Given the description of an element on the screen output the (x, y) to click on. 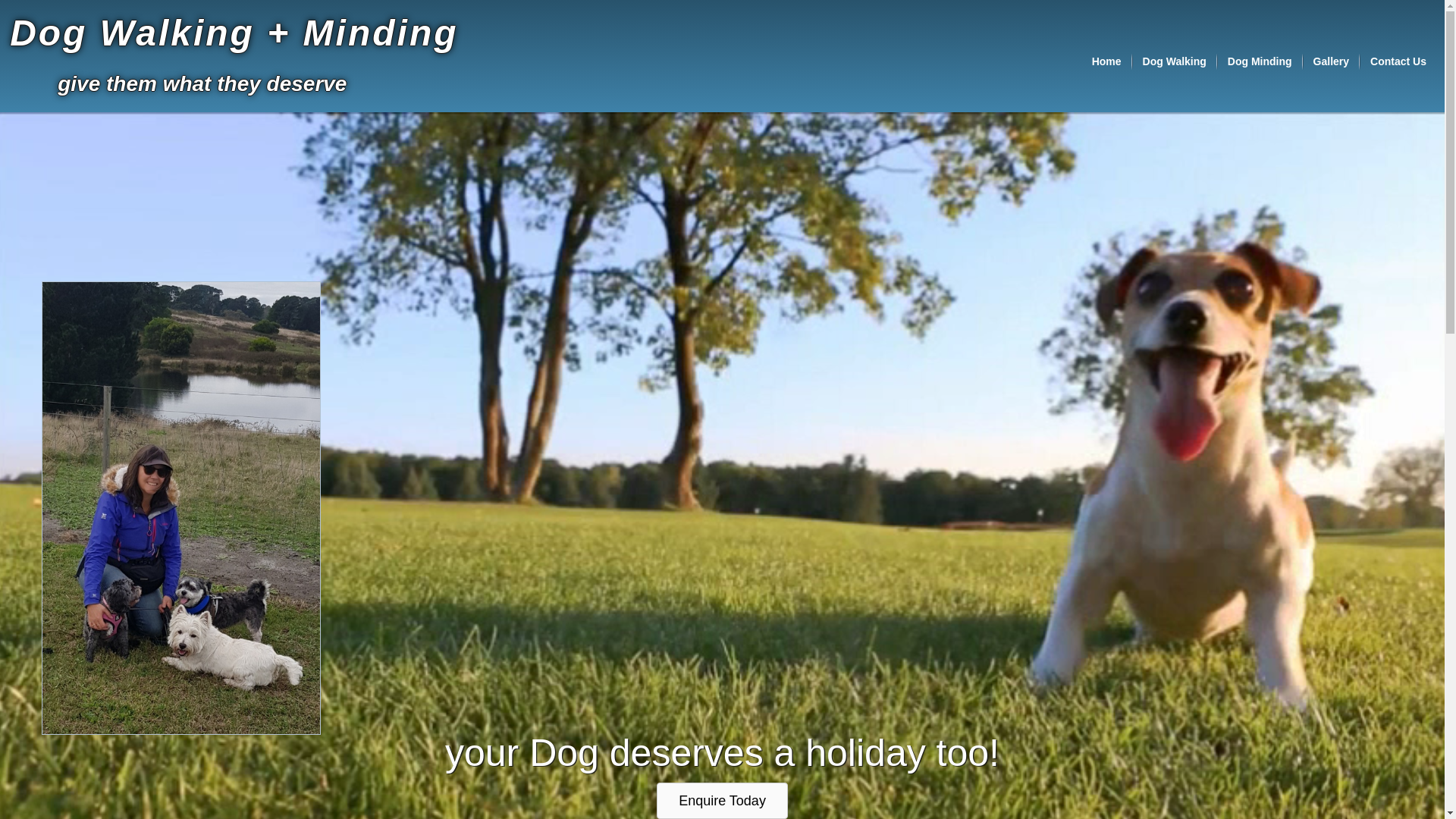
Gallery Element type: text (1330, 60)
Dog Walking + Minding Element type: text (233, 32)
Dog Minding Element type: text (1259, 60)
Home Element type: text (1106, 60)
Dog Walking Element type: text (1174, 60)
Contact Us Element type: text (1398, 60)
DogWalkingLakeside Element type: hover (180, 507)
